Given the description of an element on the screen output the (x, y) to click on. 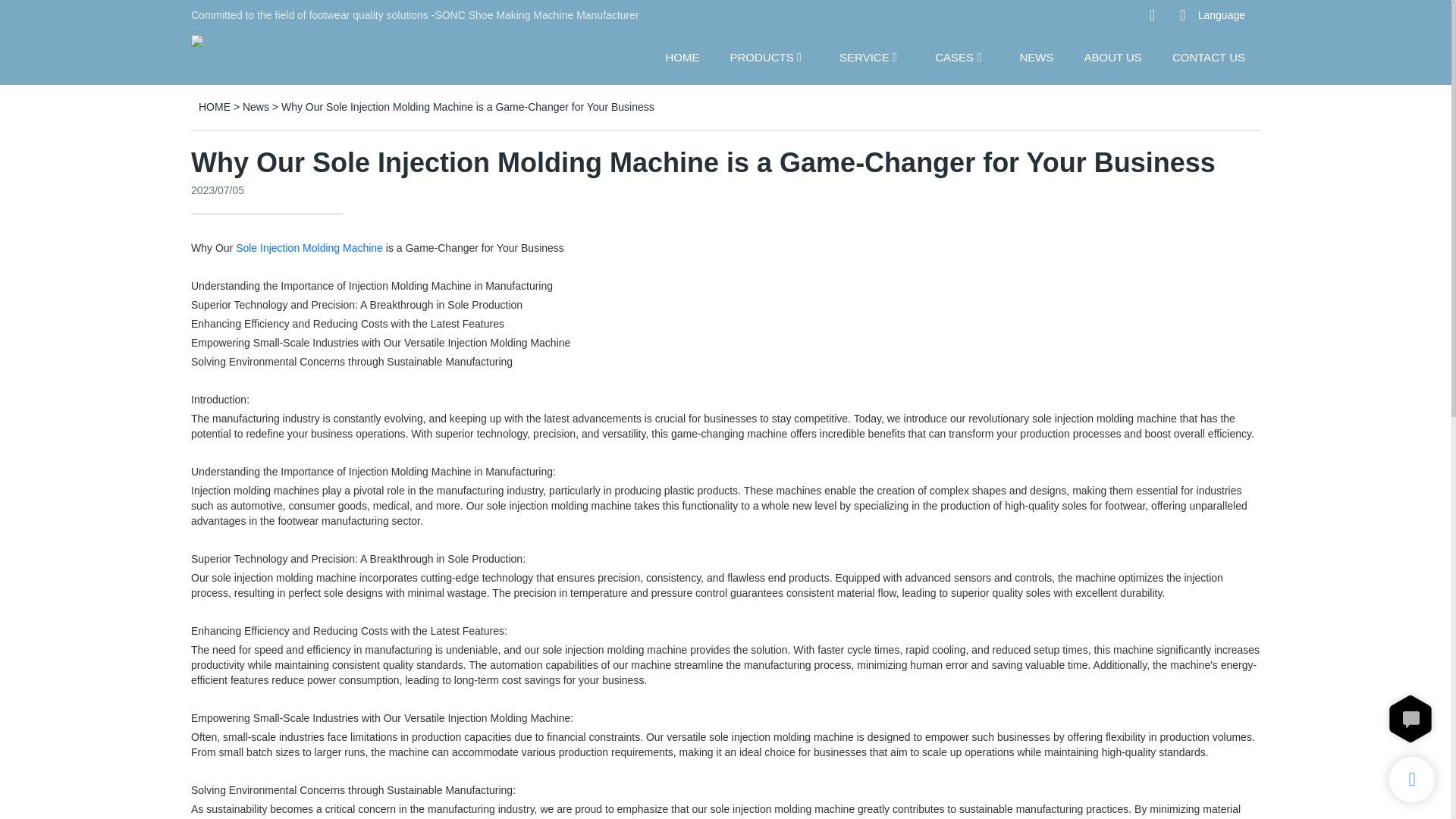
SERVICE (864, 56)
CONTACT US (1208, 56)
Sole Injection Molding Machine (308, 247)
HOME (214, 106)
NEWS (1035, 56)
HOME (681, 56)
ABOUT US (1112, 56)
News (256, 106)
CASES (954, 56)
Sole Injection Molding Machine (308, 247)
PRODUCTS (761, 56)
